Given the description of an element on the screen output the (x, y) to click on. 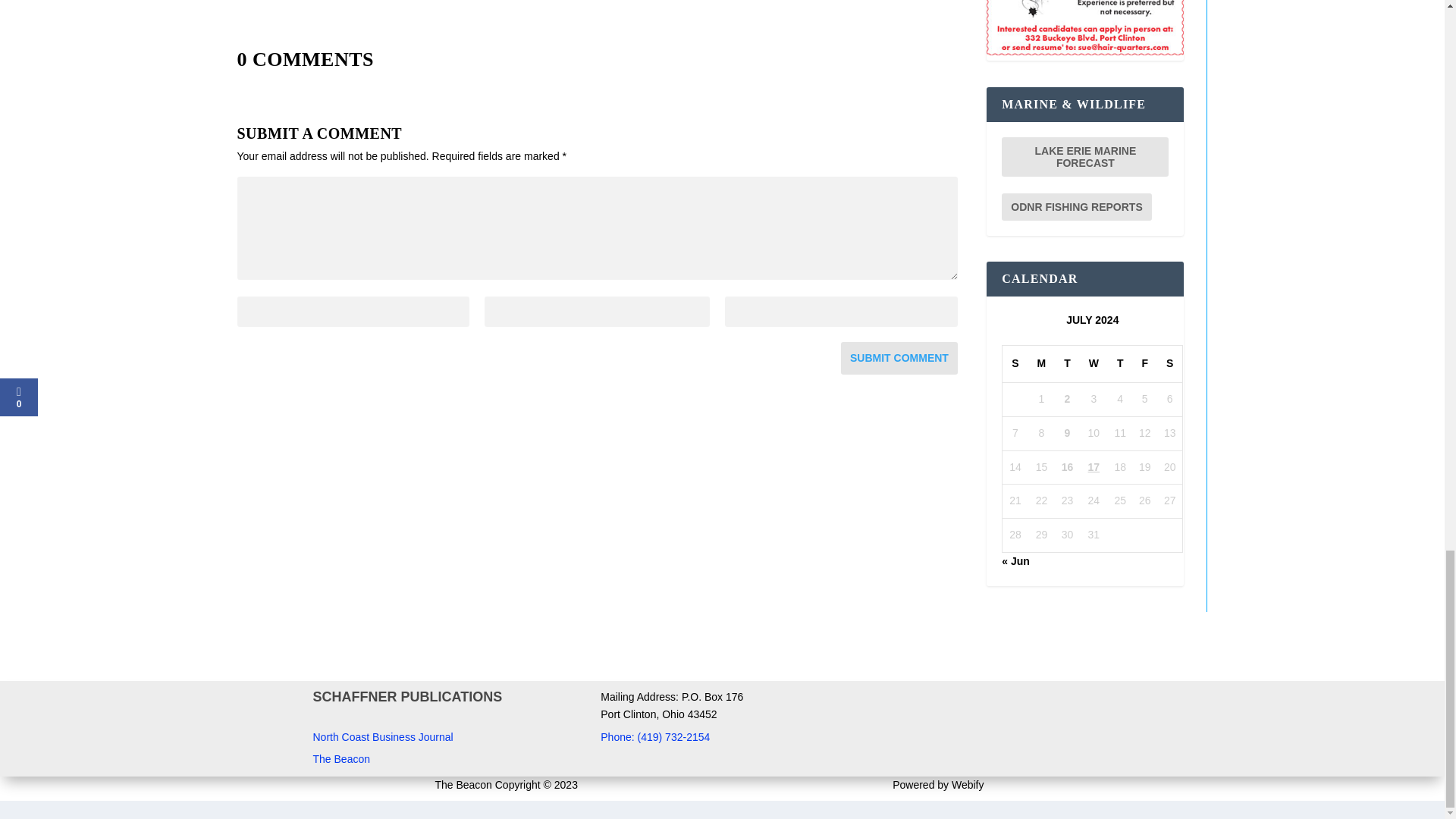
Wednesday (1094, 364)
Friday (1144, 364)
Thursday (1120, 364)
Sunday (1015, 364)
Monday (1041, 364)
Tuesday (1067, 364)
Saturday (1169, 364)
